Given the description of an element on the screen output the (x, y) to click on. 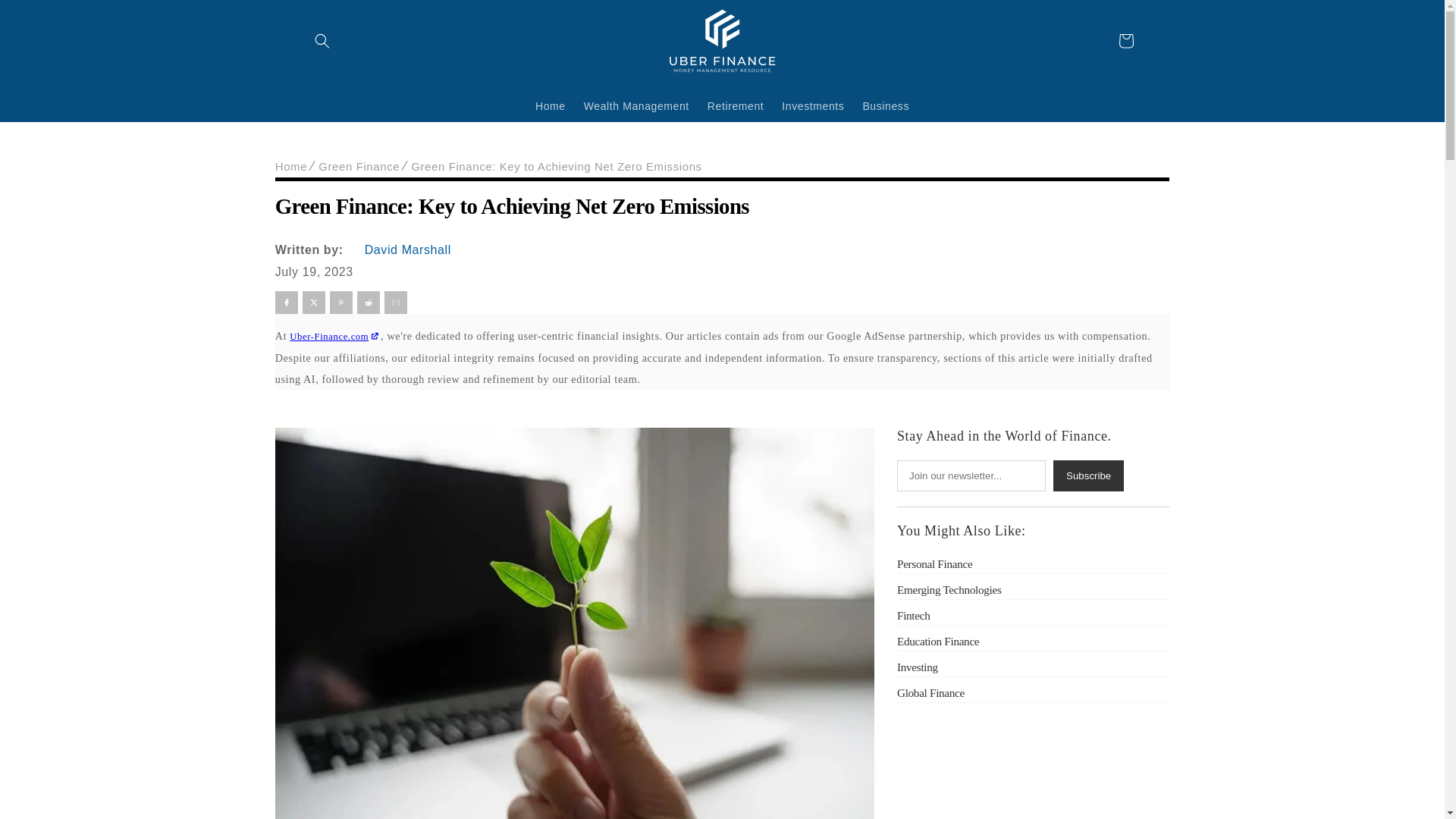
Retirement (735, 105)
Home (291, 167)
Skip to content (45, 17)
Green Finance: Key to Achieving Net Zero Emissions (555, 167)
Business (885, 105)
Green Finance: Key to Achieving Net Zero Emissions (722, 200)
Cart (1124, 40)
Green Finance (358, 167)
Uber-Finance.com (334, 336)
Investments (813, 105)
Wealth Management (636, 105)
Home (550, 105)
